Given the description of an element on the screen output the (x, y) to click on. 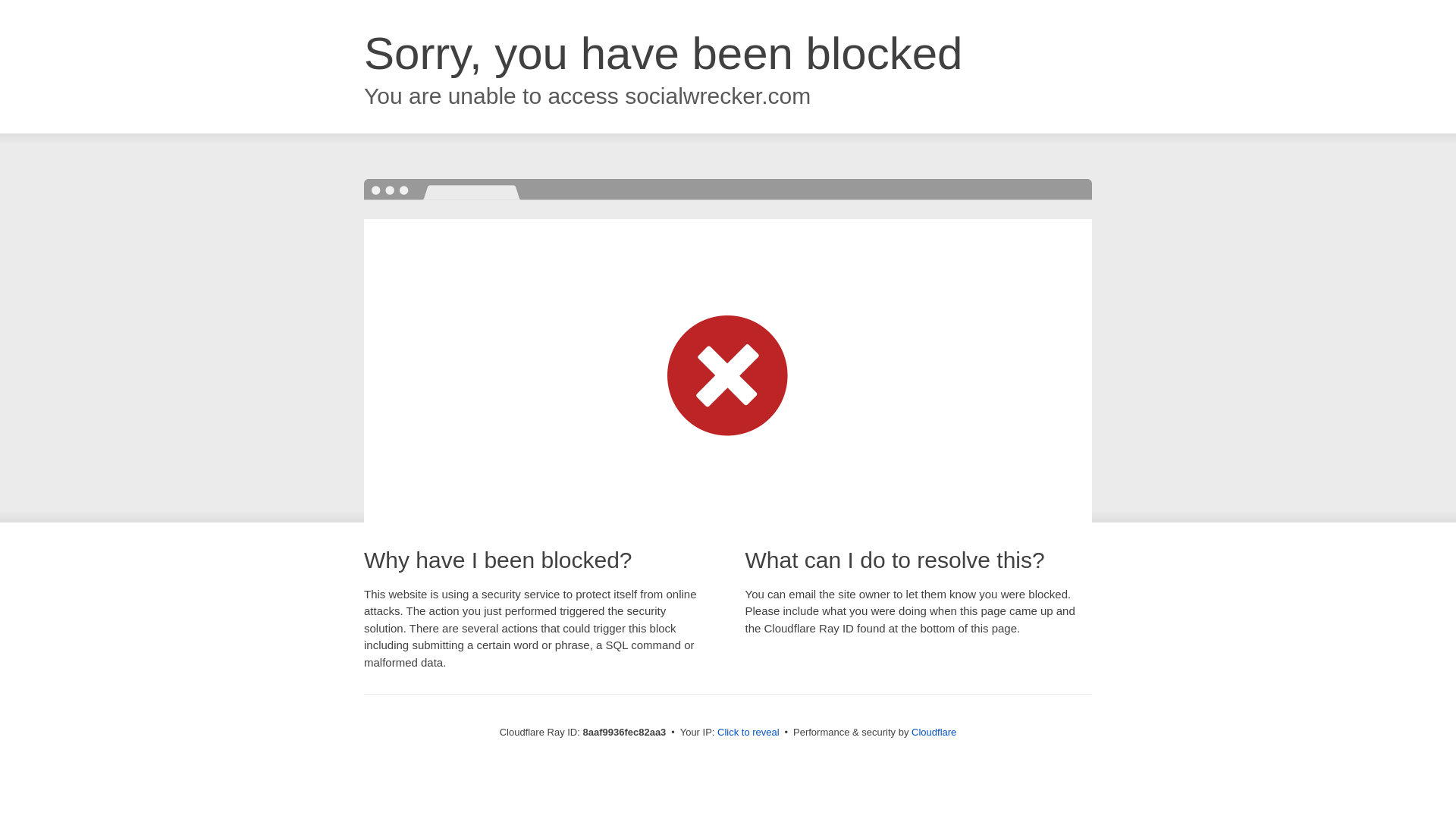
Click to reveal (747, 732)
Cloudflare (933, 731)
